Given the description of an element on the screen output the (x, y) to click on. 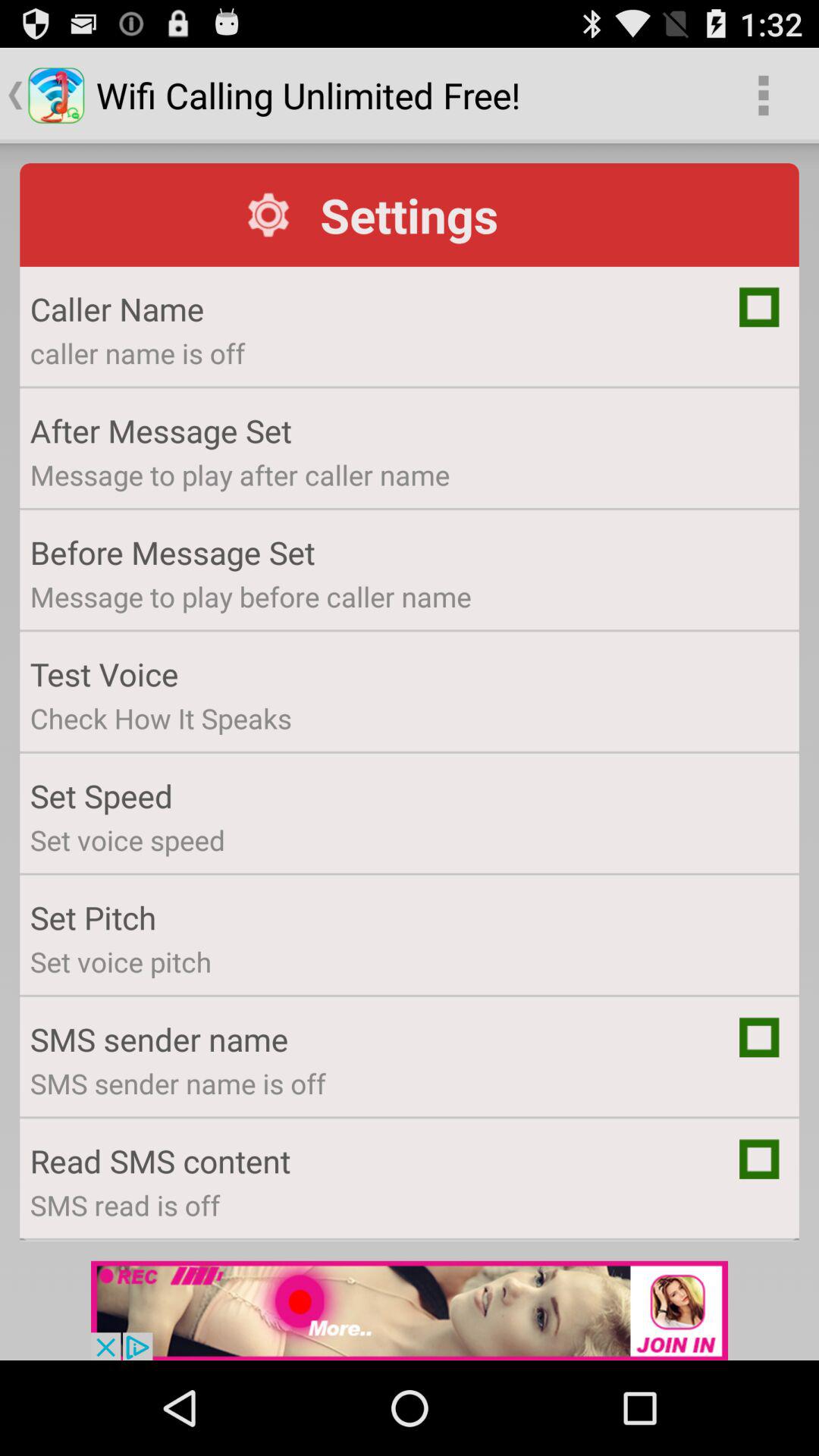
select content (759, 1159)
